Given the description of an element on the screen output the (x, y) to click on. 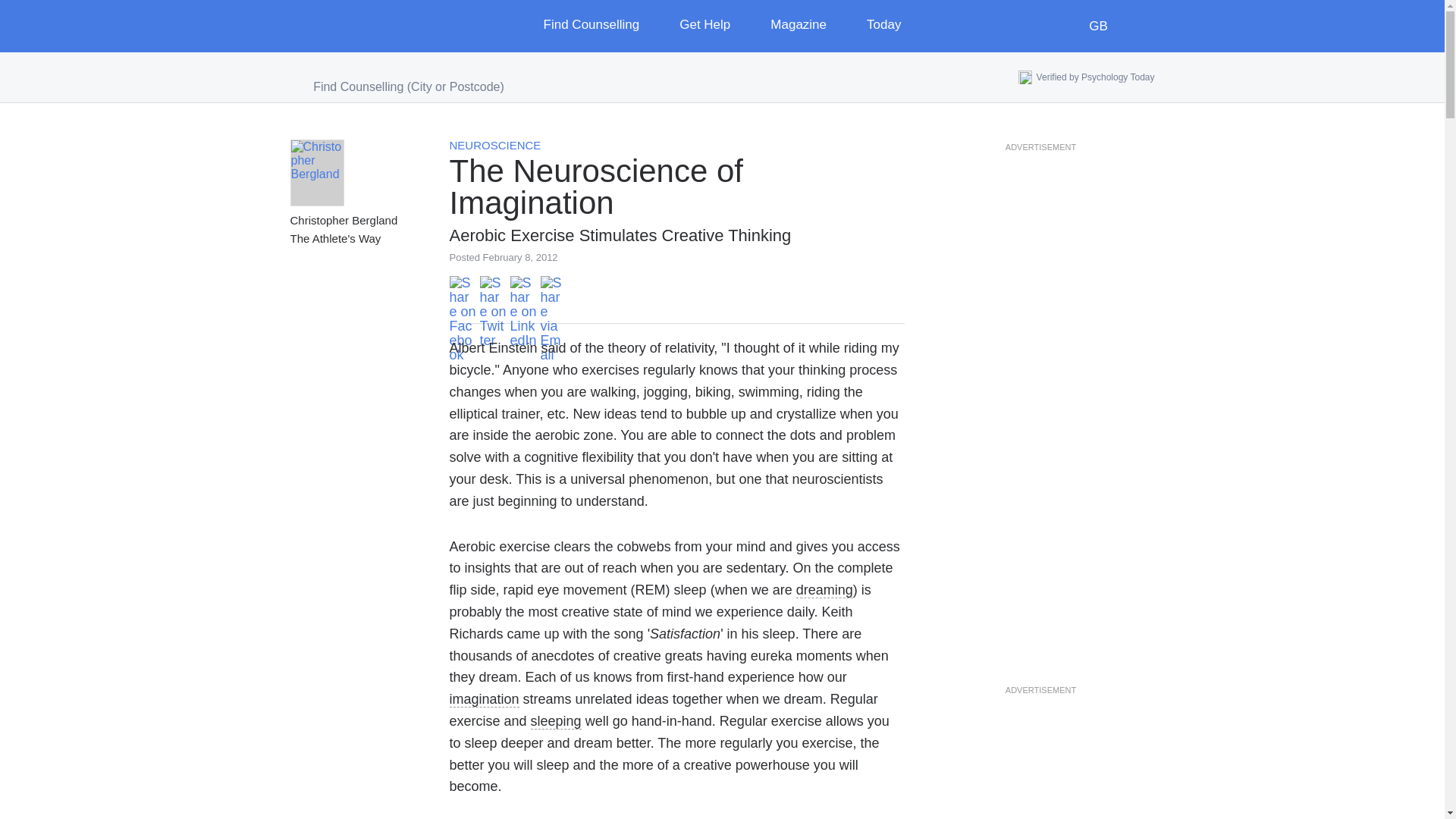
Find Counselling (602, 25)
Psychology Today (352, 25)
Get Help (715, 25)
